Given the description of an element on the screen output the (x, y) to click on. 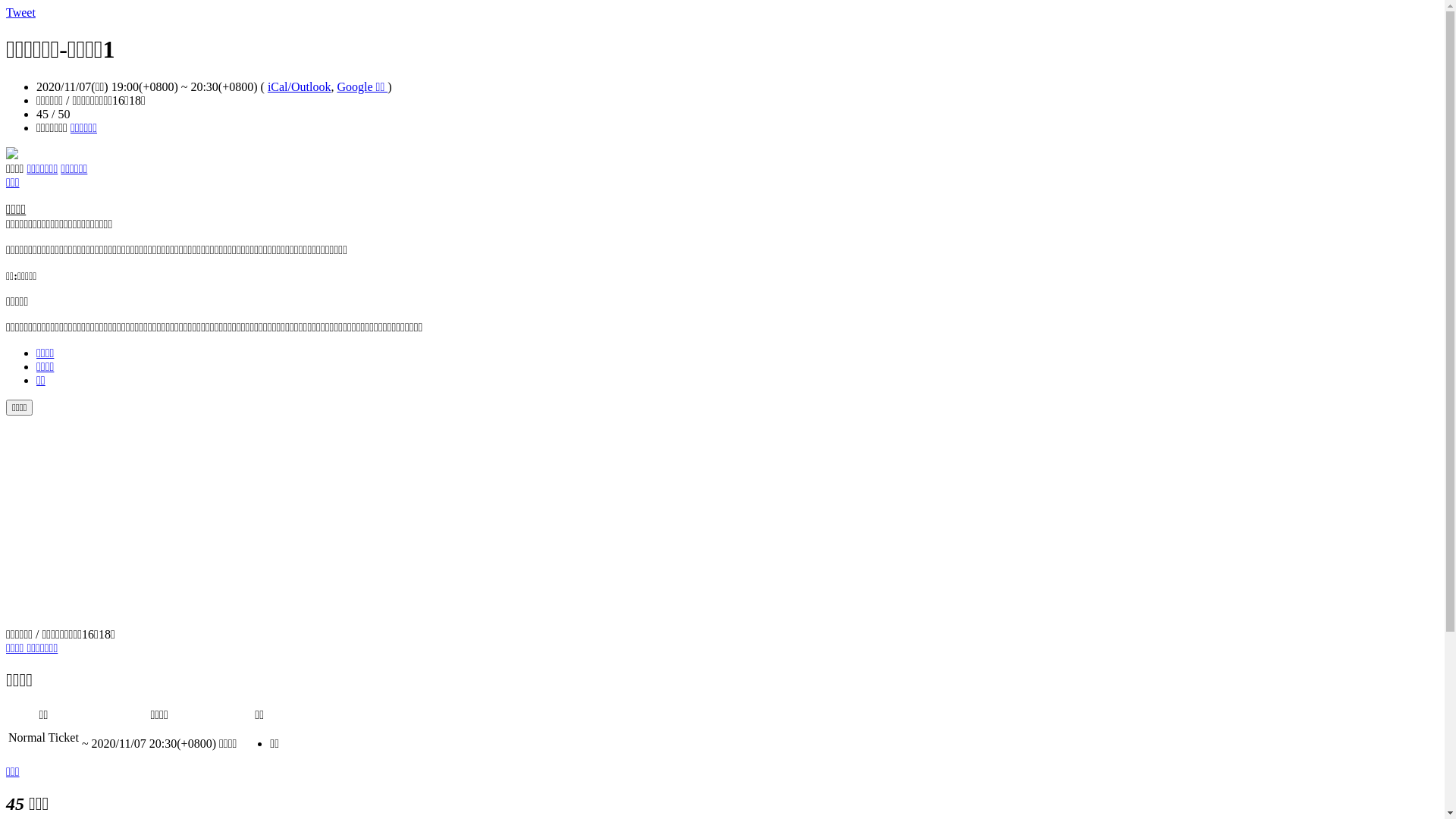
iCal/Outlook Element type: text (299, 86)
Tweet Element type: text (20, 12)
